Given the description of an element on the screen output the (x, y) to click on. 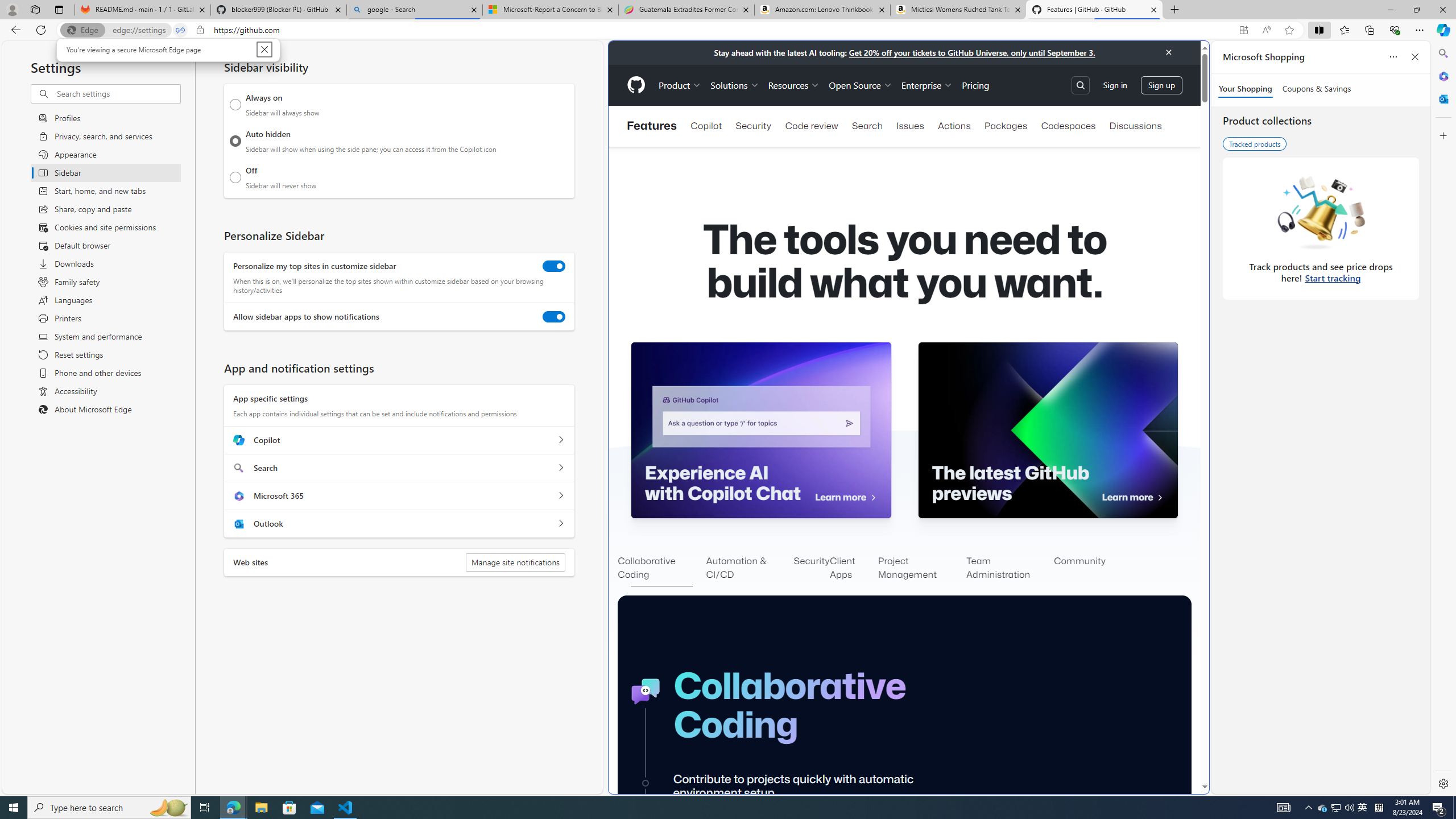
Q2790: 100% (1349, 807)
Always on Sidebar will always show (235, 104)
Homepage (635, 85)
Solutions (735, 84)
google - Search (414, 9)
Search (1442, 53)
Experience AI with Copilot Chat Learn more  (761, 429)
Open Source (860, 84)
Discussions (1135, 125)
Search settings (117, 93)
Client Apps (853, 568)
